Given the description of an element on the screen output the (x, y) to click on. 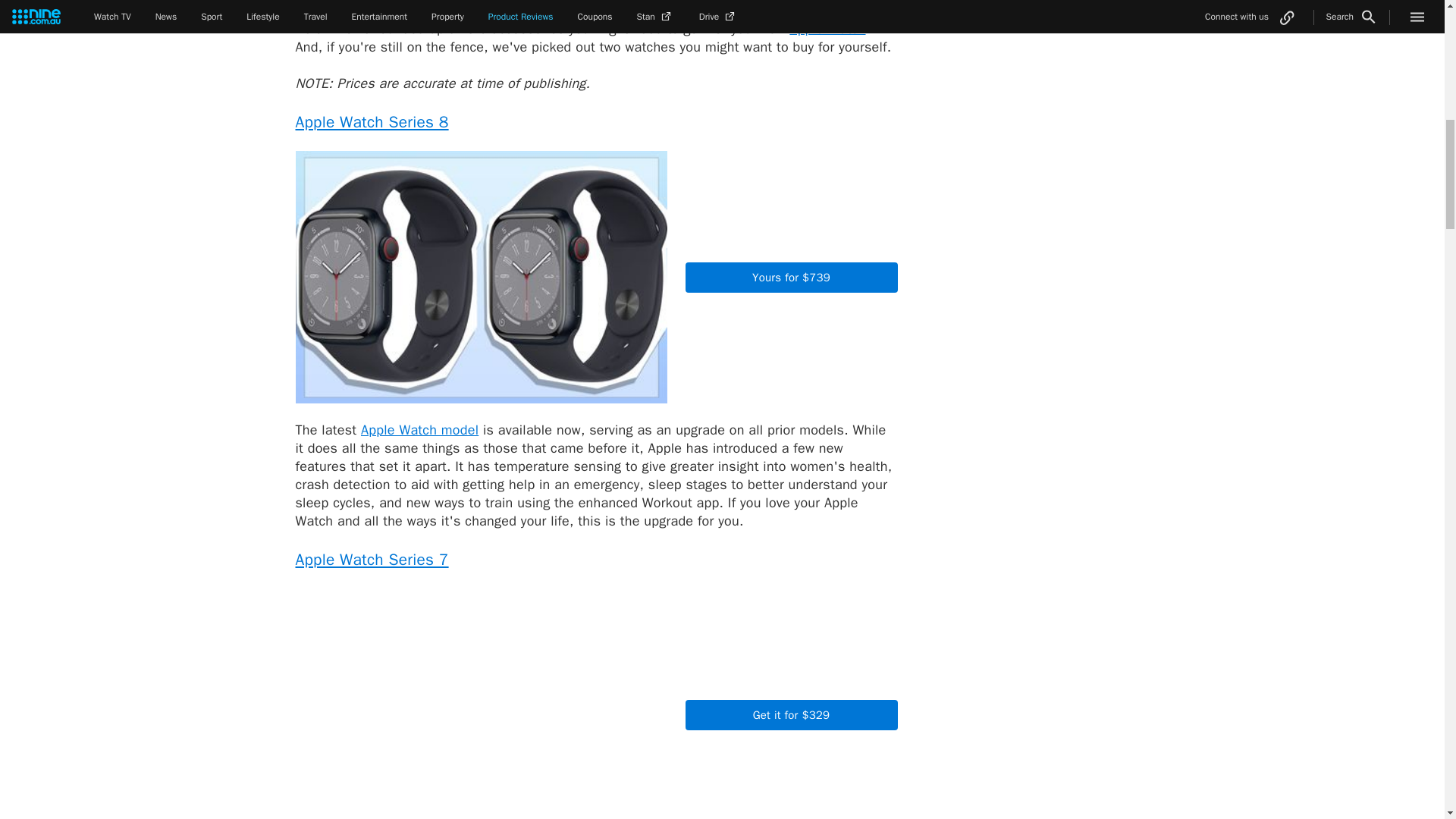
Apple Watch model (420, 429)
Apple Watch (826, 28)
Apple Watch (826, 28)
Apple Watch Series 7 (371, 559)
Apple Watch model (420, 429)
Apple Watch Series 8 (371, 121)
Apple Watch Series 8 (371, 121)
